Given the description of an element on the screen output the (x, y) to click on. 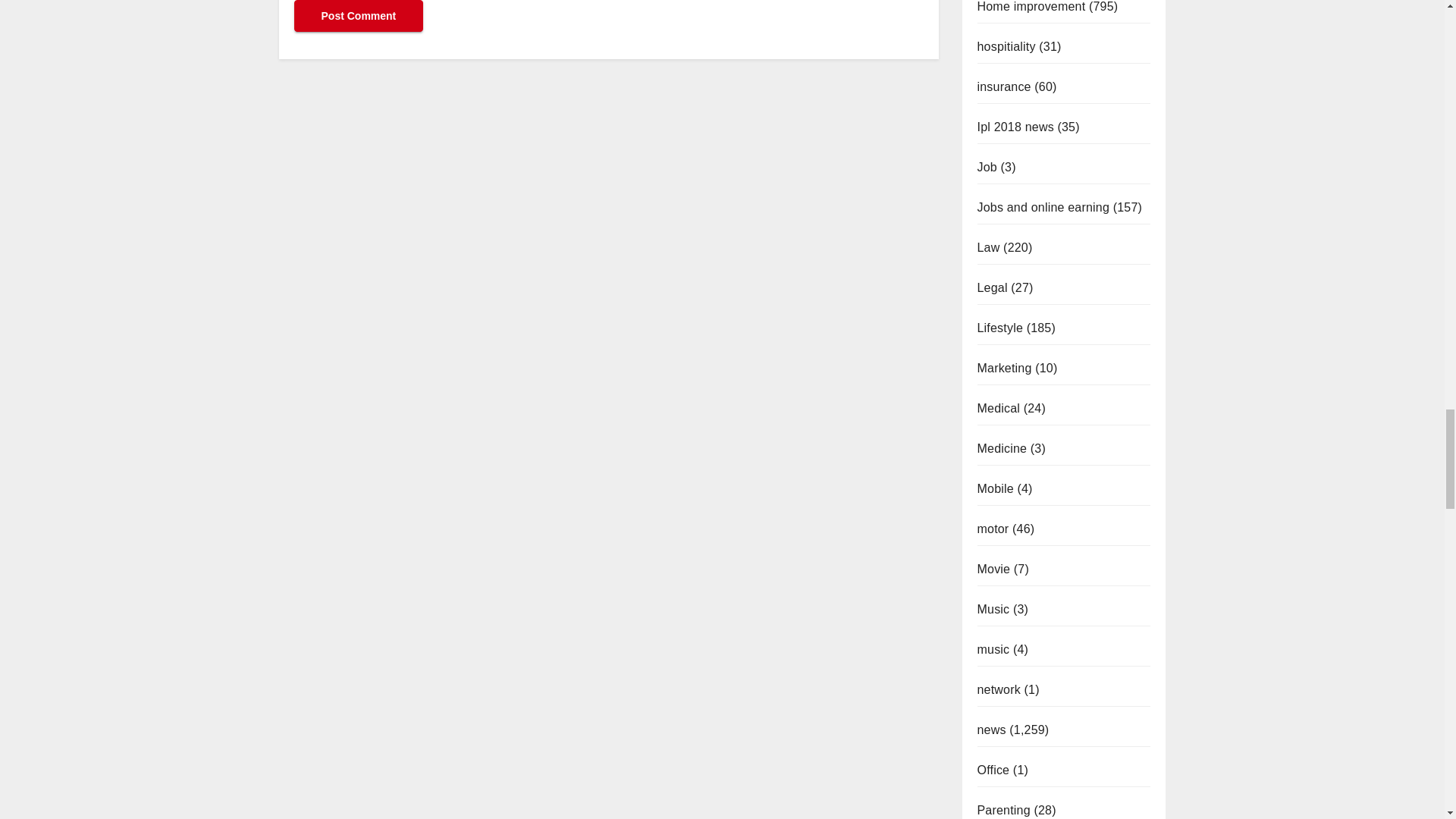
Post Comment (358, 15)
